Given the description of an element on the screen output the (x, y) to click on. 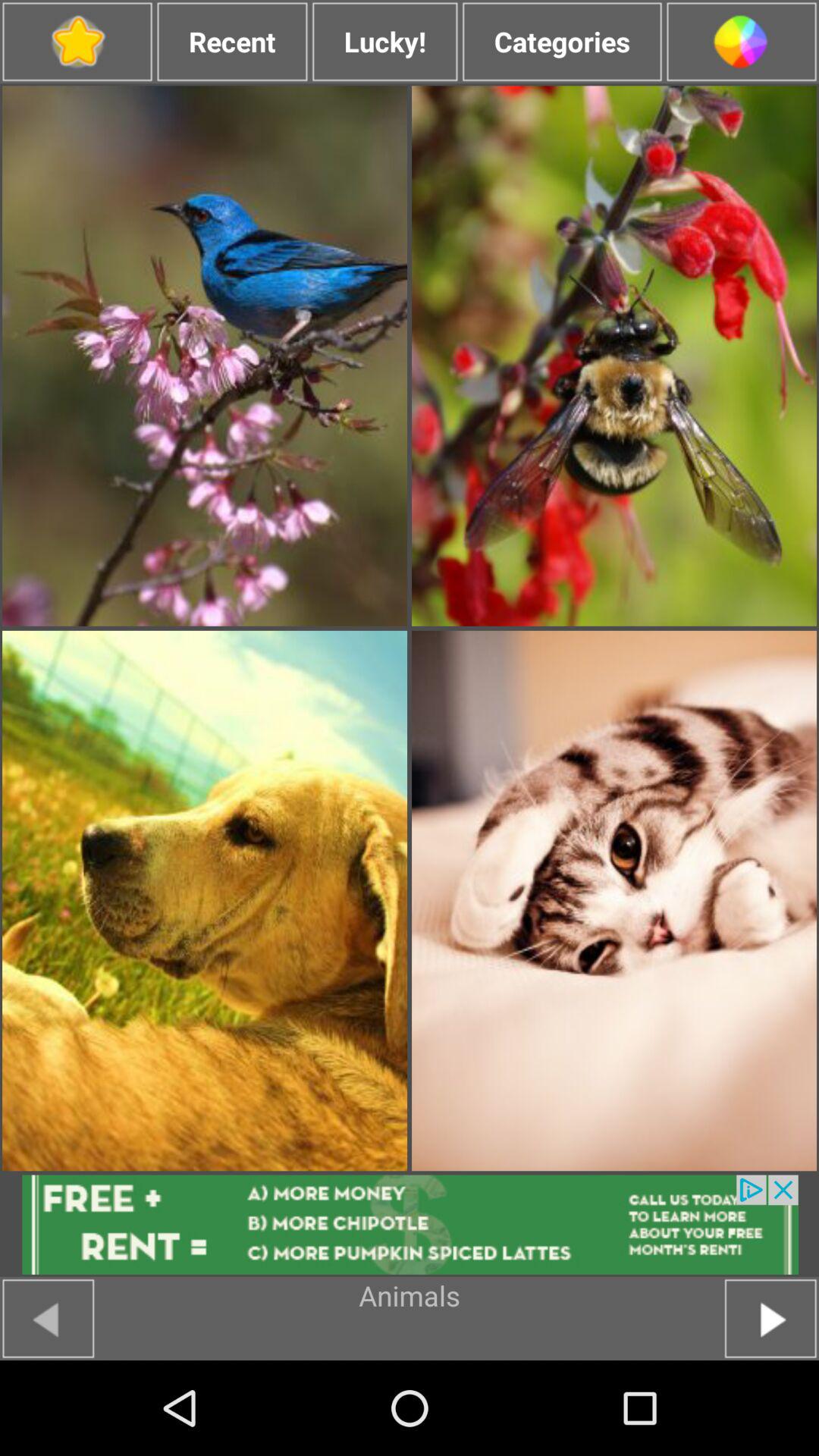
go to previous (48, 1318)
